Given the description of an element on the screen output the (x, y) to click on. 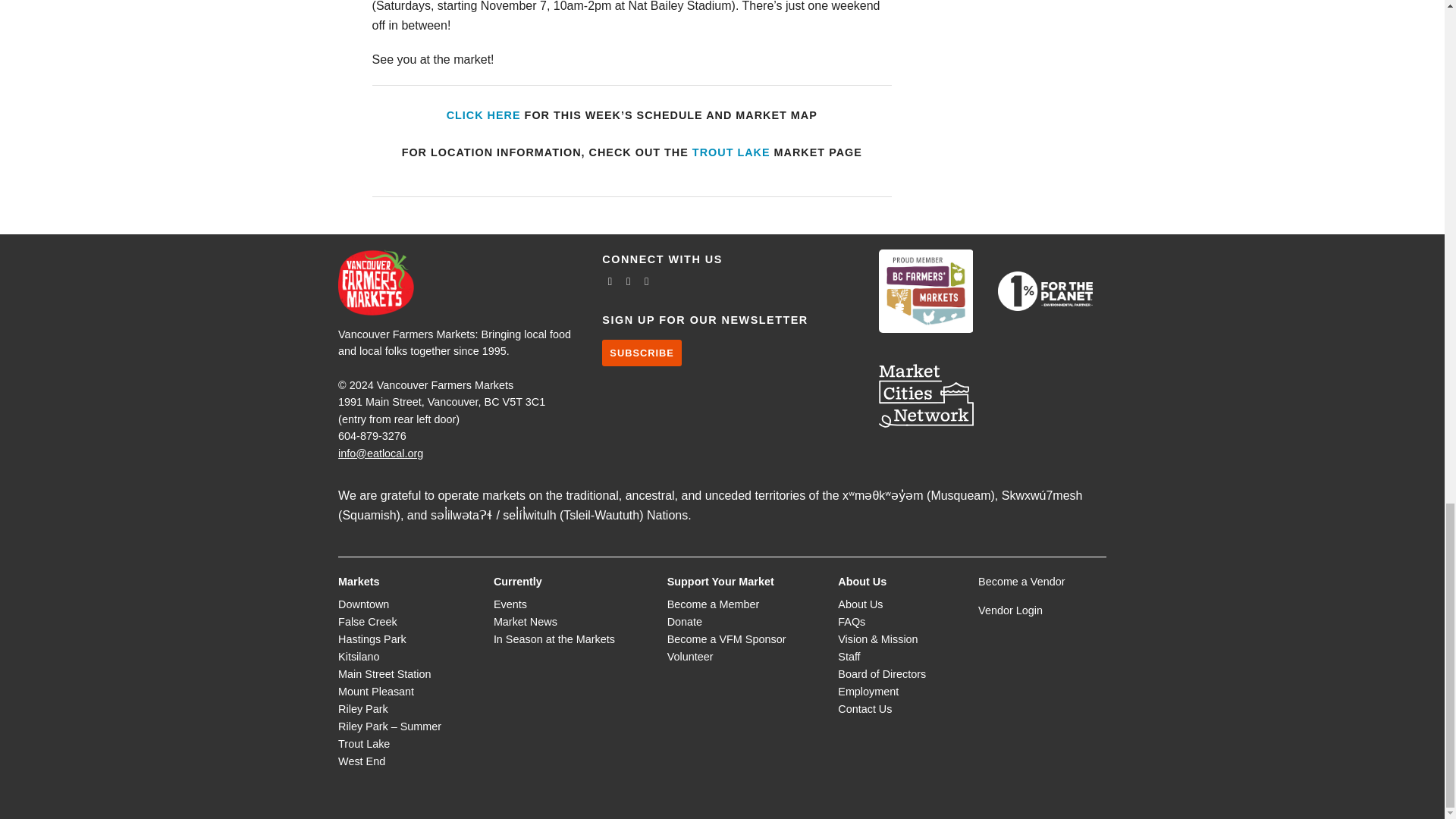
Trout Lake (731, 152)
